Given the description of an element on the screen output the (x, y) to click on. 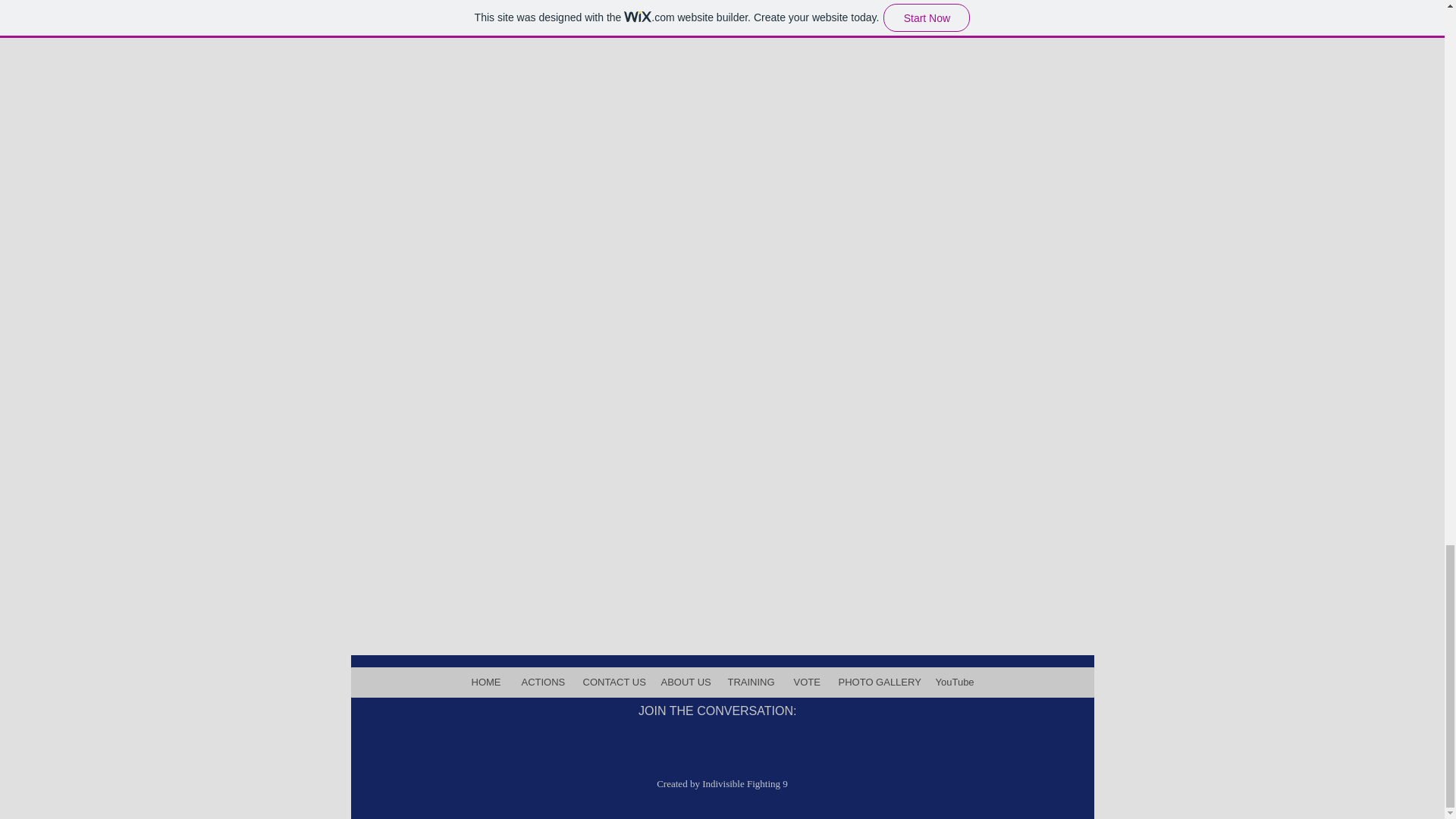
Embedded Content (717, 583)
Send (1075, 24)
PHOTO GALLERY (876, 682)
TRAINING (750, 682)
ACTIONS (541, 682)
HOME (486, 682)
CONTACT US (610, 682)
VOTE (805, 682)
YouTube (954, 682)
ABOUT US (683, 682)
